Given the description of an element on the screen output the (x, y) to click on. 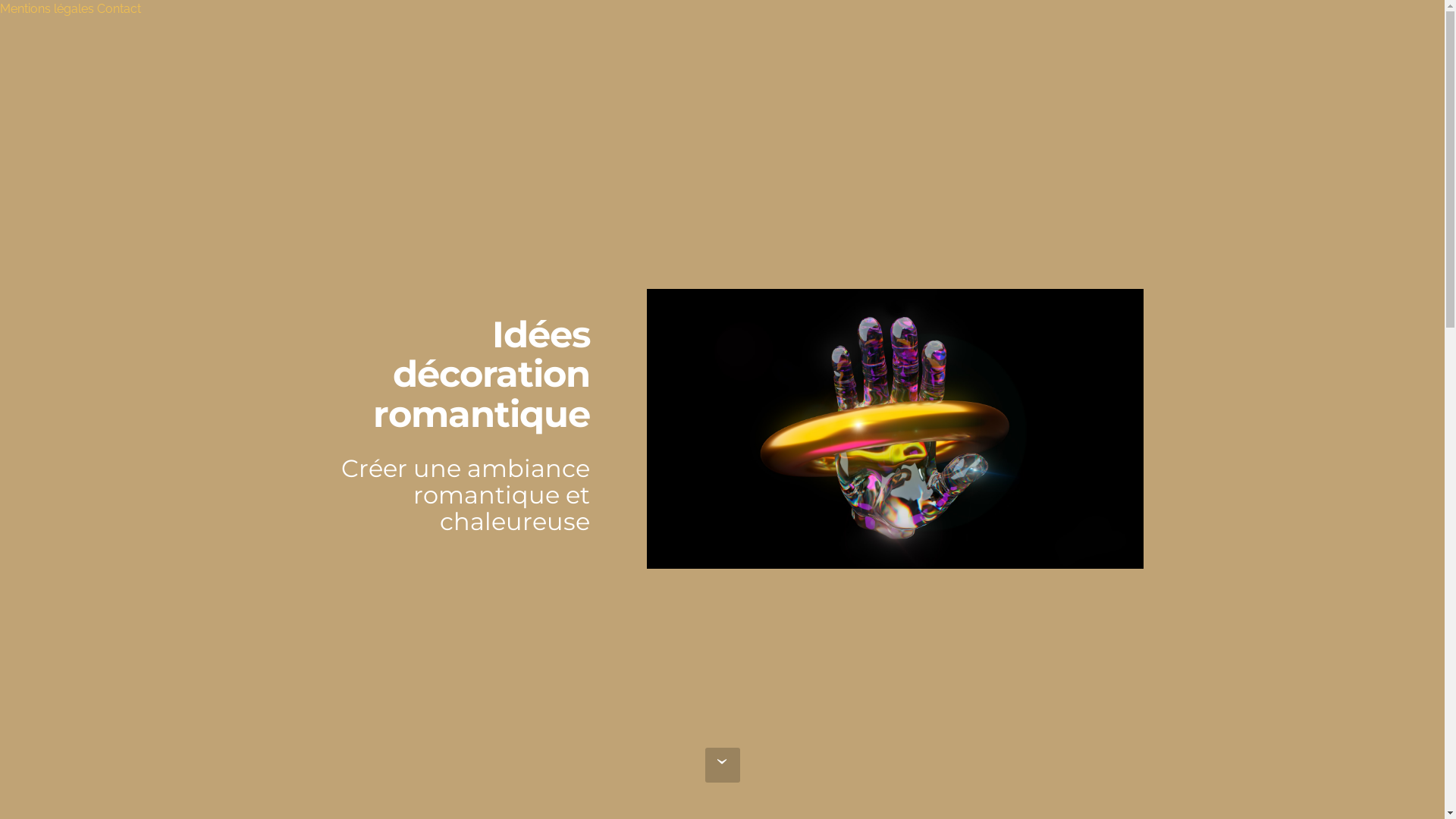
Contact Element type: text (119, 8)
